Given the description of an element on the screen output the (x, y) to click on. 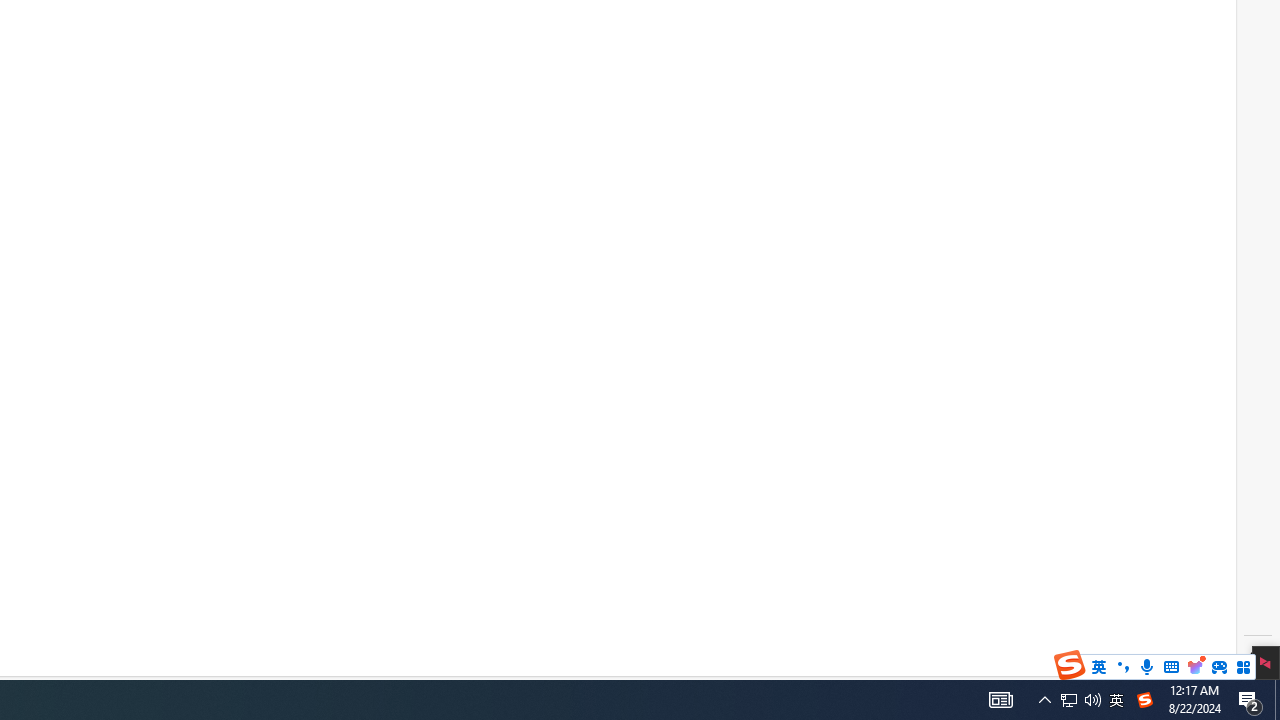
Q2790: 100% (1092, 699)
Notification Chevron (1044, 699)
User Promoted Notification Area (1080, 699)
Show desktop (1277, 699)
AutomationID: 4105 (1000, 699)
Tray Input Indicator - Chinese (Simplified, China) (1069, 699)
Action Center, 2 new notifications (1144, 699)
